Given the description of an element on the screen output the (x, y) to click on. 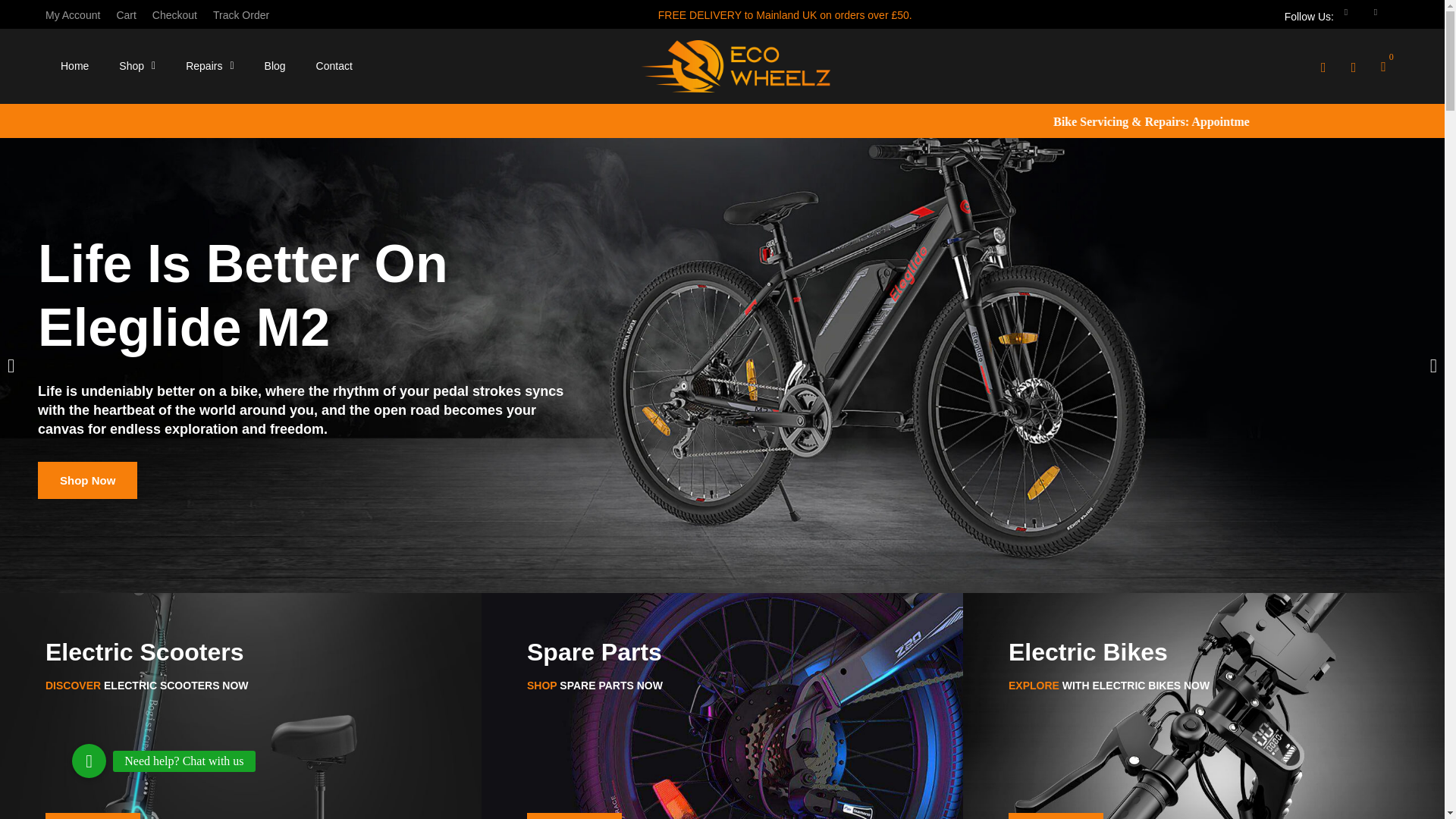
My Account (72, 15)
Checkout (174, 15)
Track Order (240, 15)
Contact (334, 65)
Shop (136, 65)
Home (74, 65)
Blog (274, 65)
Cart (125, 15)
View your shopping cart (1383, 65)
Repairs (209, 65)
